Given the description of an element on the screen output the (x, y) to click on. 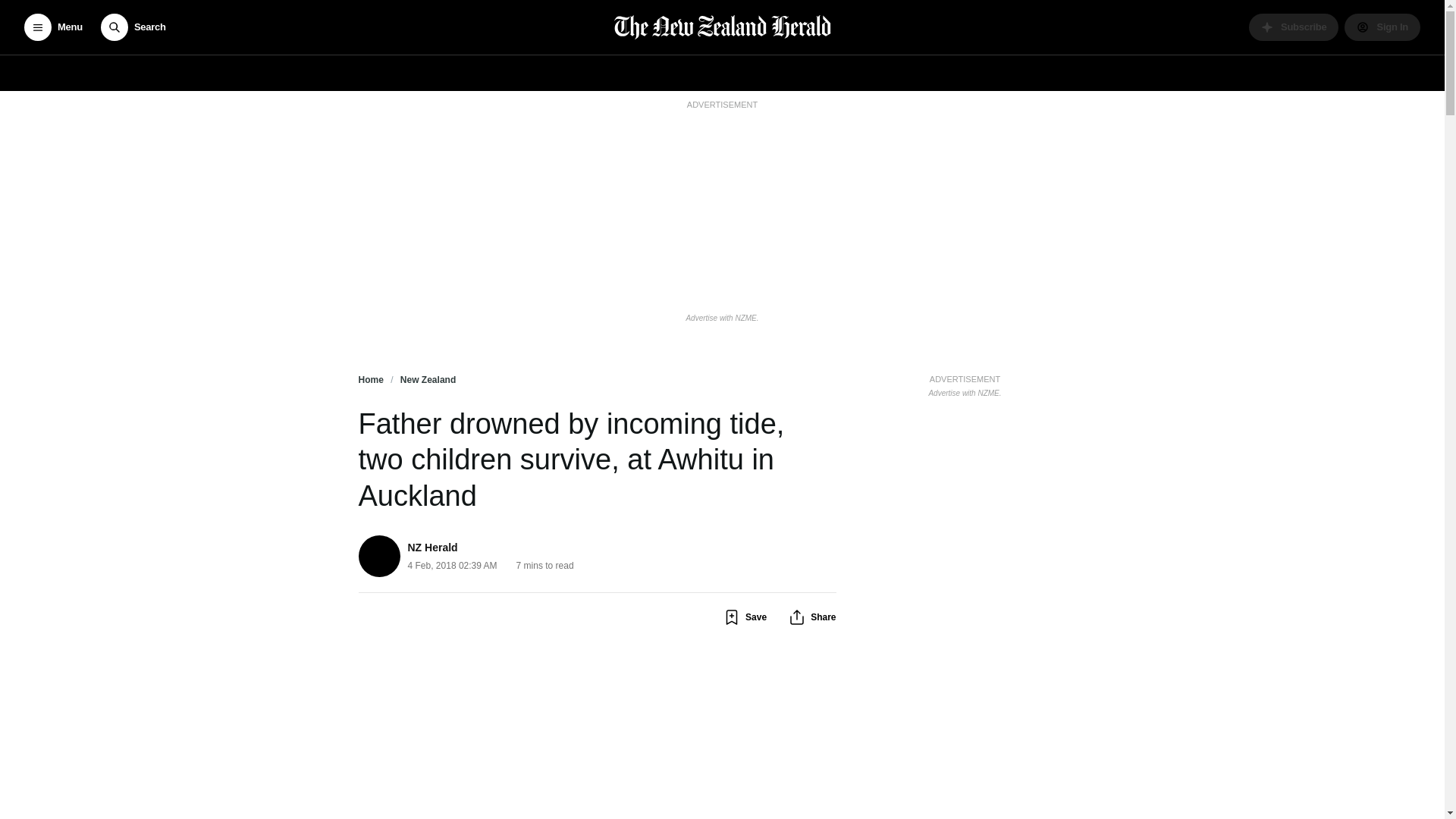
Search (132, 26)
Menu (53, 26)
Sign In (1382, 26)
Manage your account (1382, 26)
Subscribe (1294, 26)
